Given the description of an element on the screen output the (x, y) to click on. 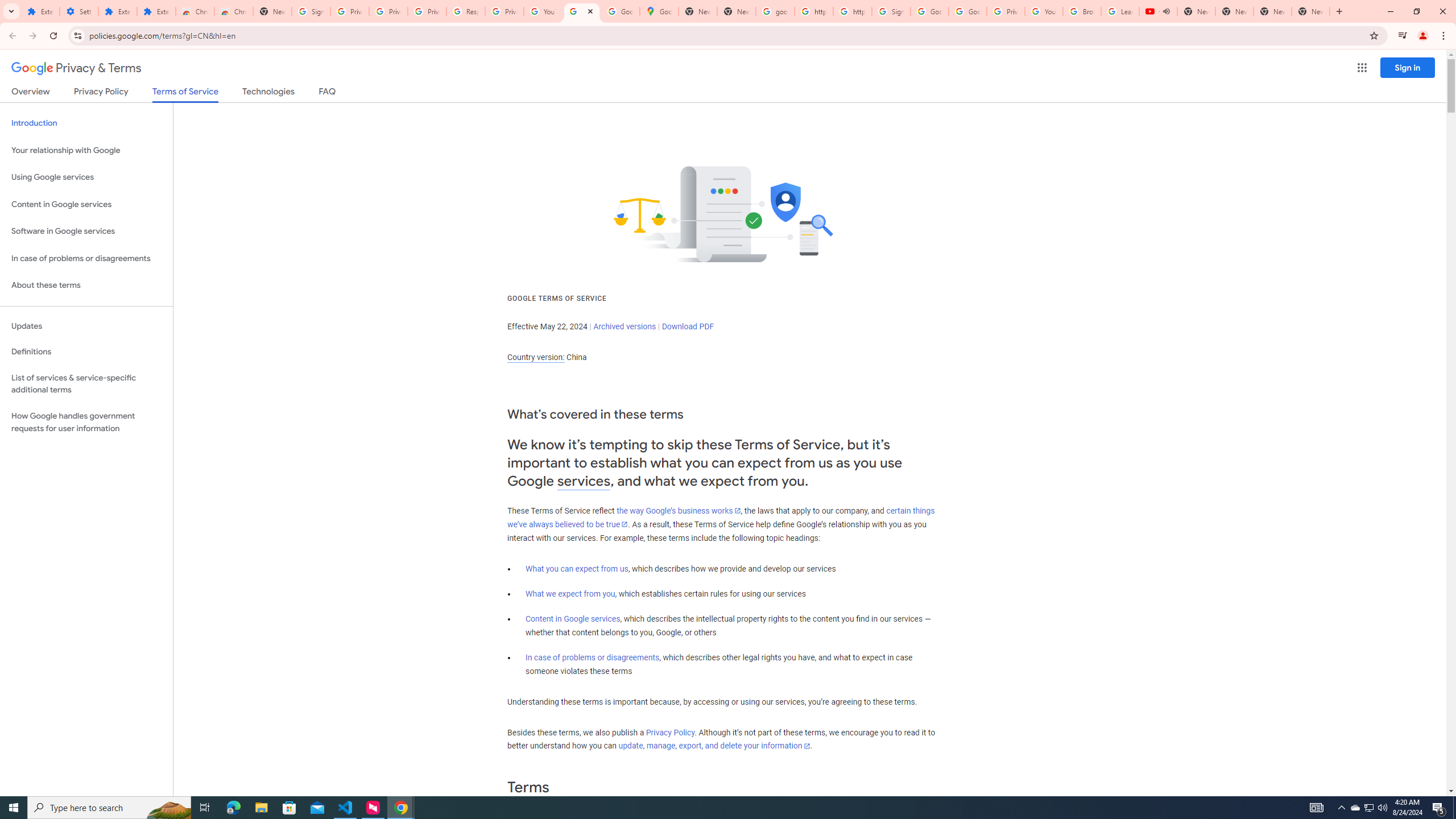
YouTube (542, 11)
Download PDF (687, 326)
What we expect from you (570, 593)
